Given the description of an element on the screen output the (x, y) to click on. 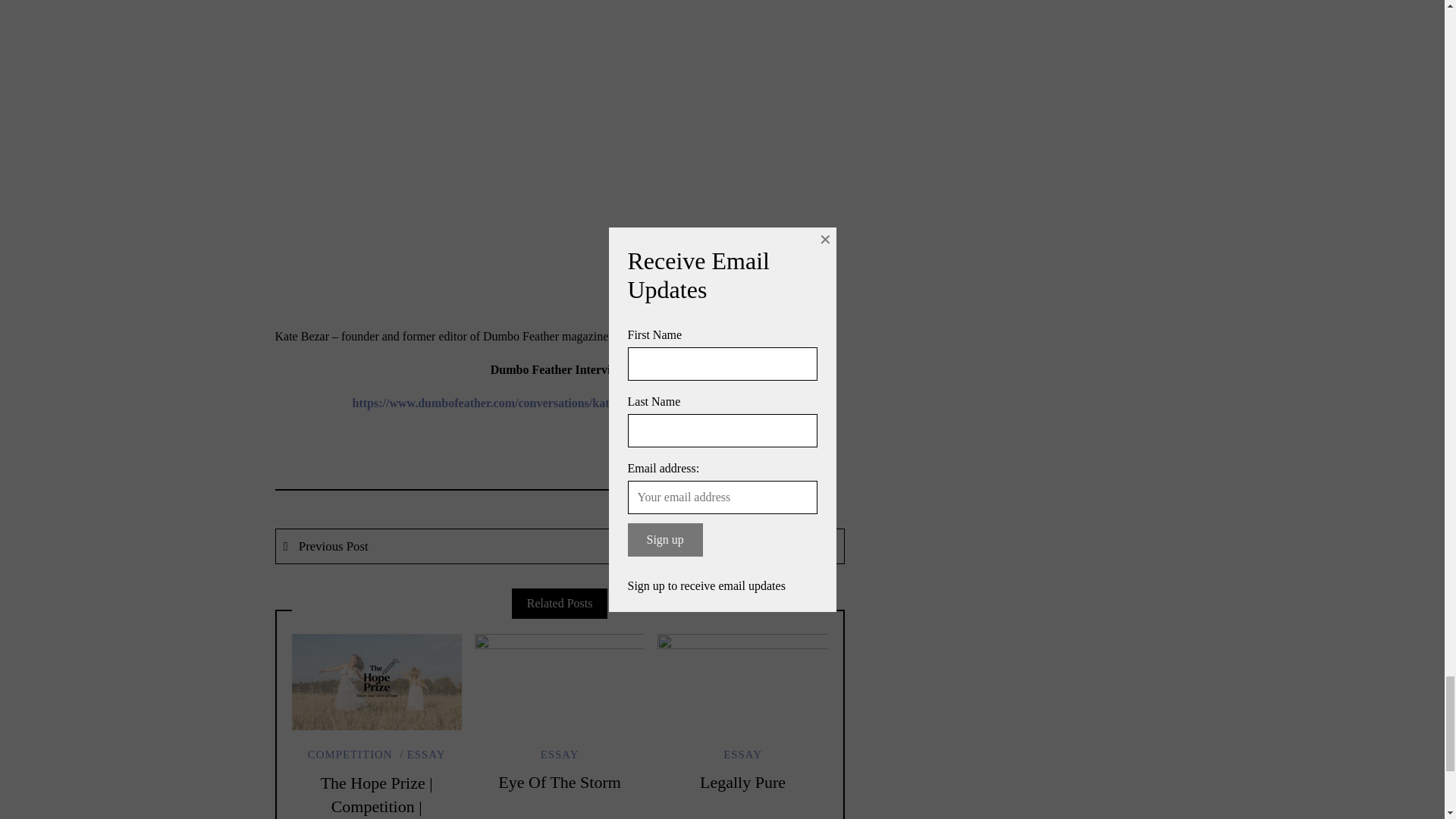
Eye Of The Storm (559, 782)
Permalink to: "Eye Of The Storm" (559, 681)
Permalink to: "Legally Pure" (742, 681)
Legally Pure (743, 782)
ESSAY (742, 754)
ESSAY (421, 754)
Eye Of The Storm (559, 782)
Legally Pure (743, 782)
Next Post (701, 546)
Previous Post (418, 546)
ESSAY (559, 754)
0 (813, 489)
COMPETITION (350, 754)
